Given the description of an element on the screen output the (x, y) to click on. 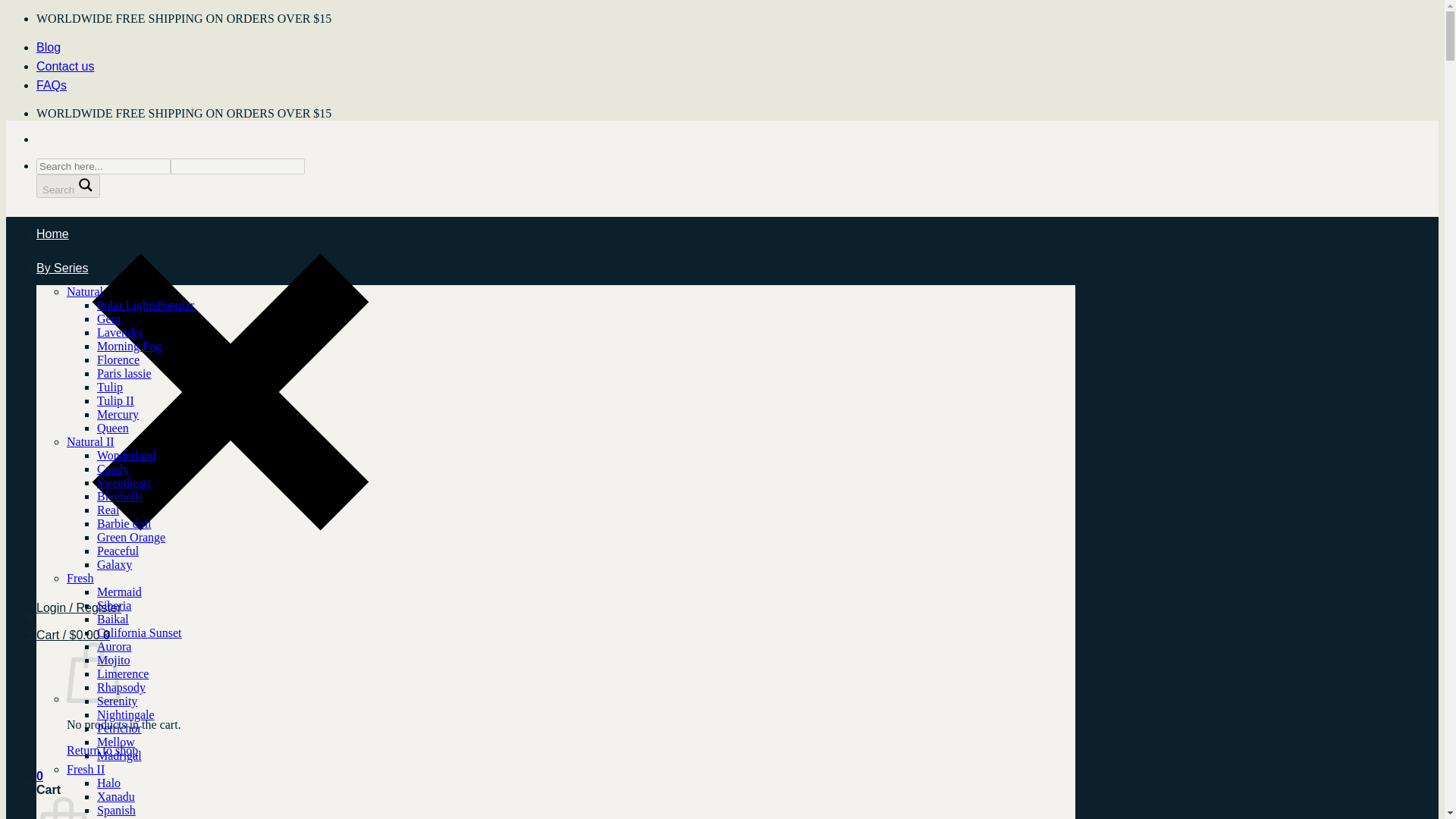
Gem Series Colored Contact Lenses (108, 318)
Candy (113, 468)
Colored Contacts FAQs (51, 84)
Baikal (113, 618)
Polar Lights Colored Contact Lenses (145, 305)
Natural (84, 291)
Mercury (117, 413)
Galaxy (114, 563)
Natural II (90, 440)
Florence Series Colored Contact Lenses (118, 359)
